Given the description of an element on the screen output the (x, y) to click on. 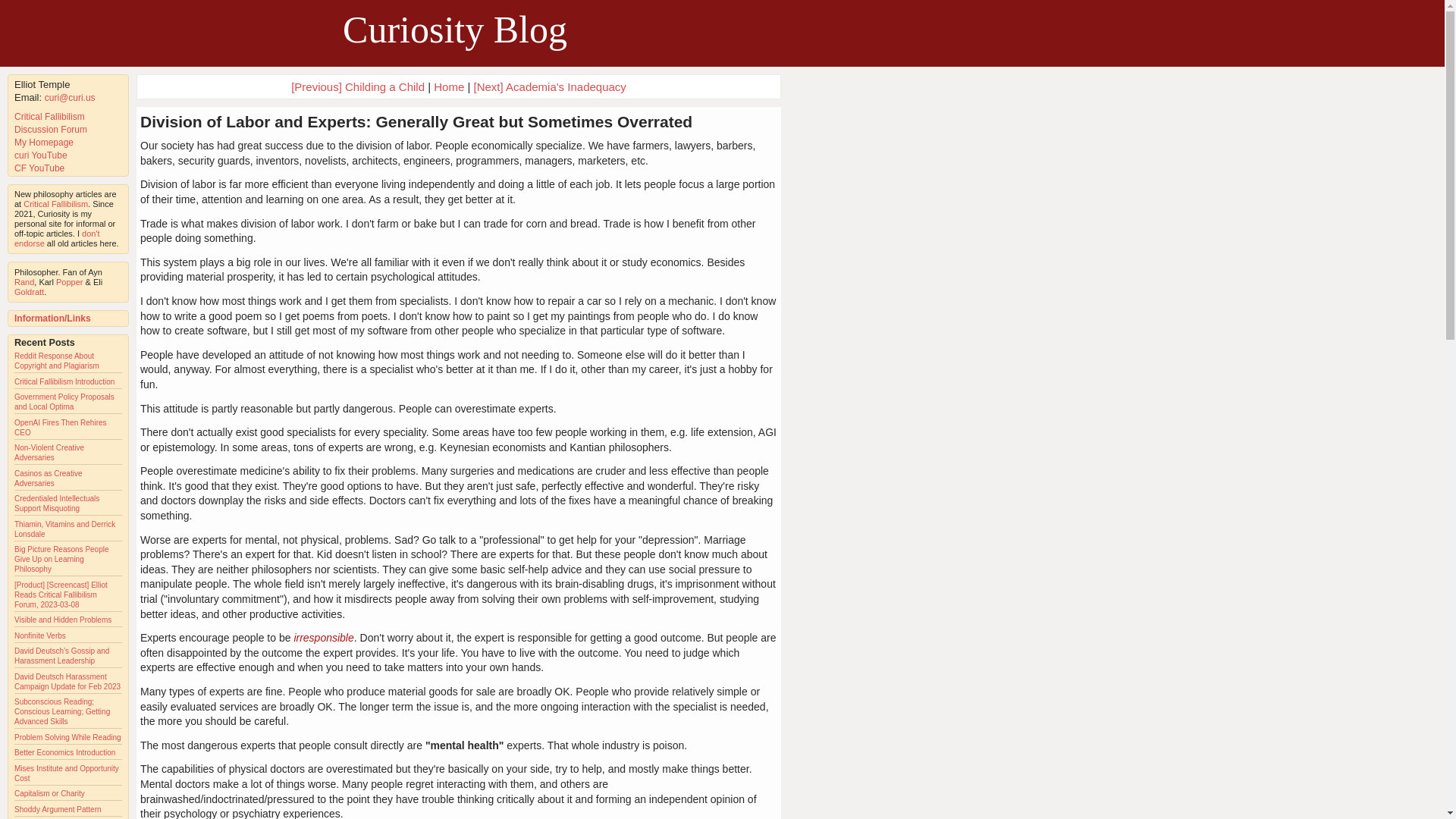
Big Picture Reasons People Give Up on Learning Philosophy (61, 559)
Critical Fallibilism Introduction (64, 381)
CF YouTube (39, 167)
Goldratt (28, 291)
Government Policy Proposals and Local Optima (64, 402)
Visible and Hidden Problems (63, 619)
Capitalism or Charity (49, 793)
Popper (69, 281)
Reddit Response About Copyright and Plagiarism (56, 361)
Mises Institute and Opportunity Cost (66, 773)
